Given the description of an element on the screen output the (x, y) to click on. 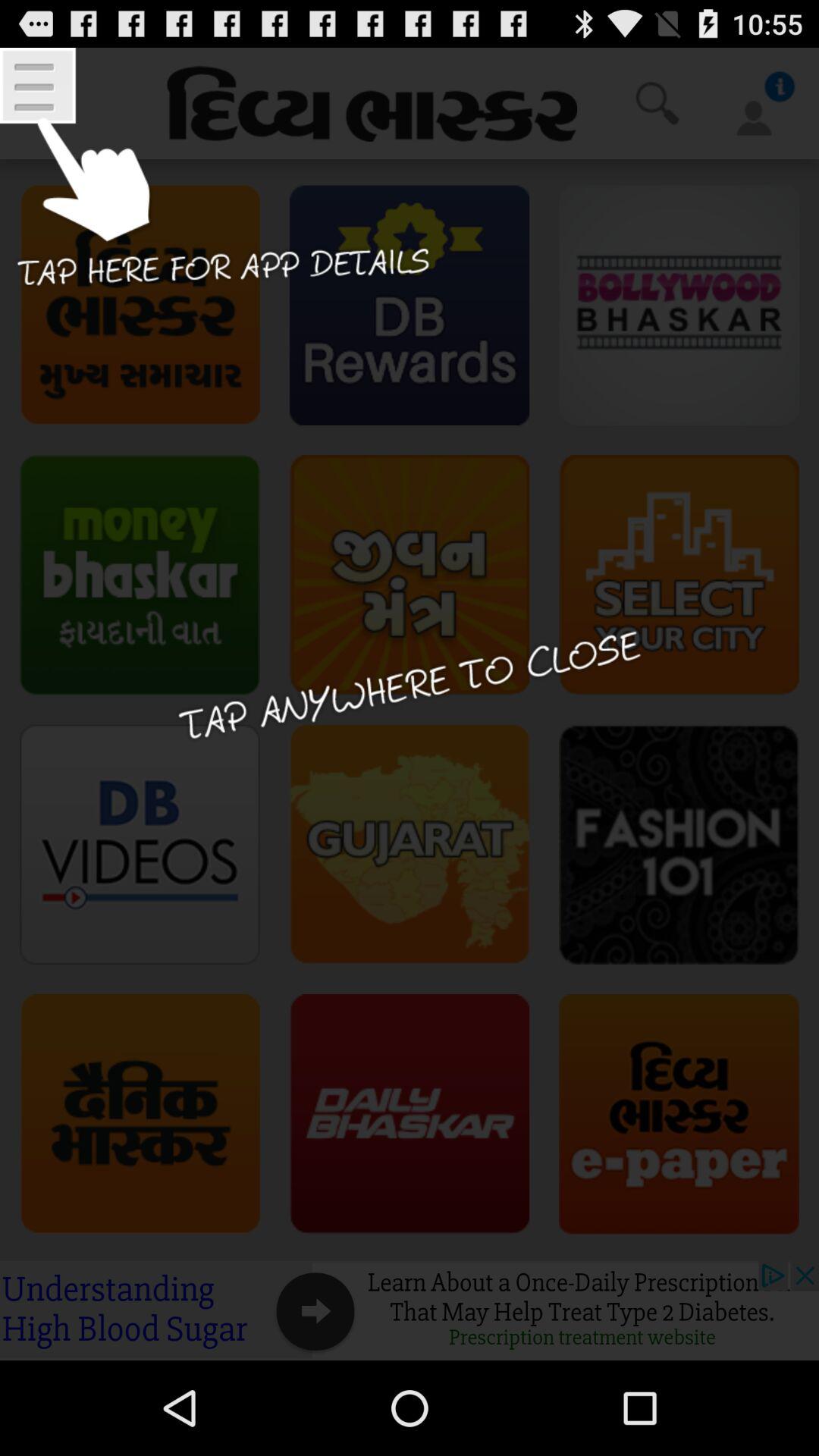
close window (409, 703)
